Given the description of an element on the screen output the (x, y) to click on. 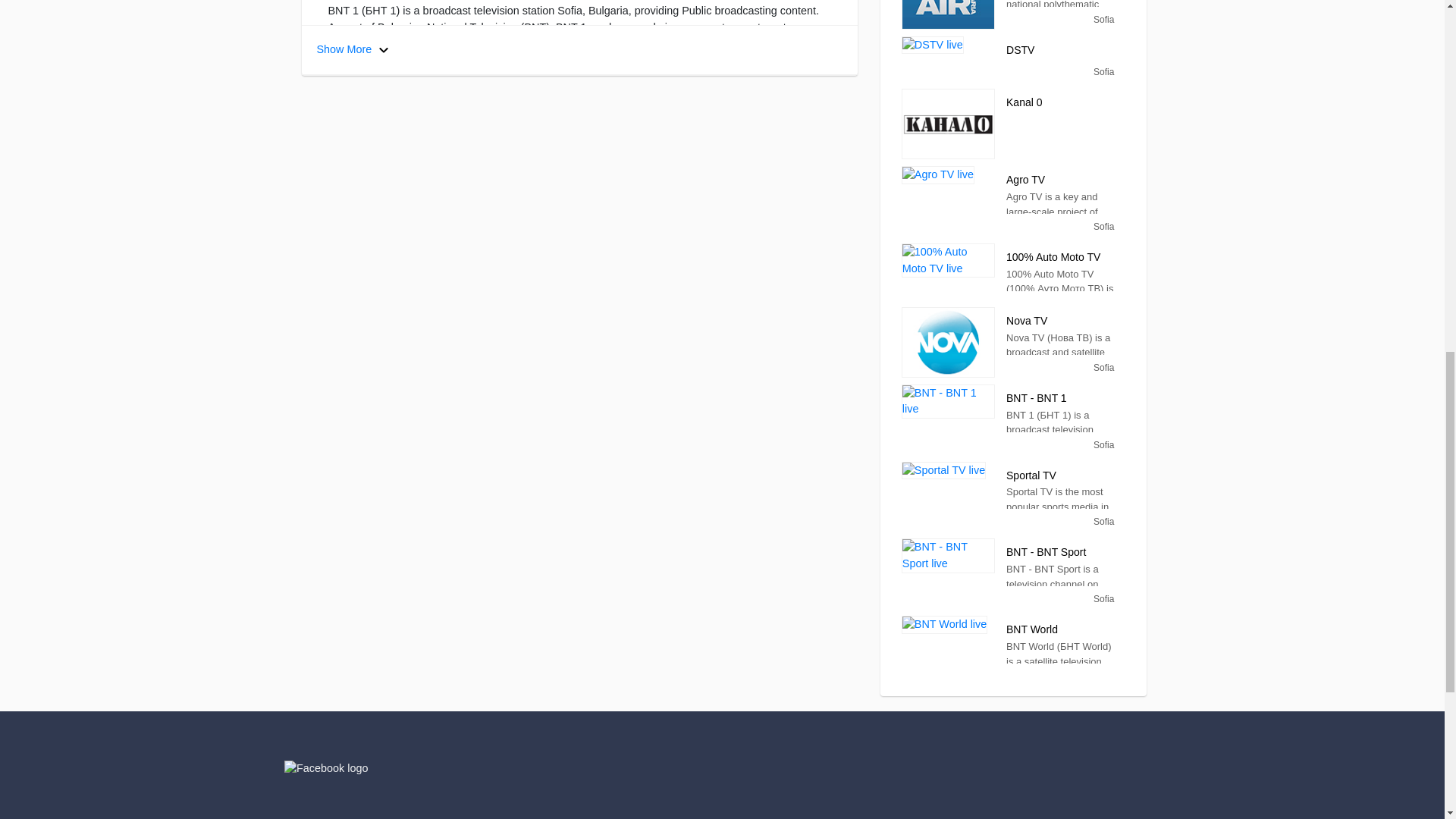
Sportal TV (943, 470)
Nova TV (947, 342)
Kanal 0 (947, 123)
Agro TV (937, 175)
BNT - BNT 1 (947, 401)
DSTV (932, 45)
Bulgaria On Air (947, 14)
BNT - BNT Sport (947, 555)
BNT World (944, 624)
Kanal 0 (1059, 104)
Show More (1059, 51)
